Given the description of an element on the screen output the (x, y) to click on. 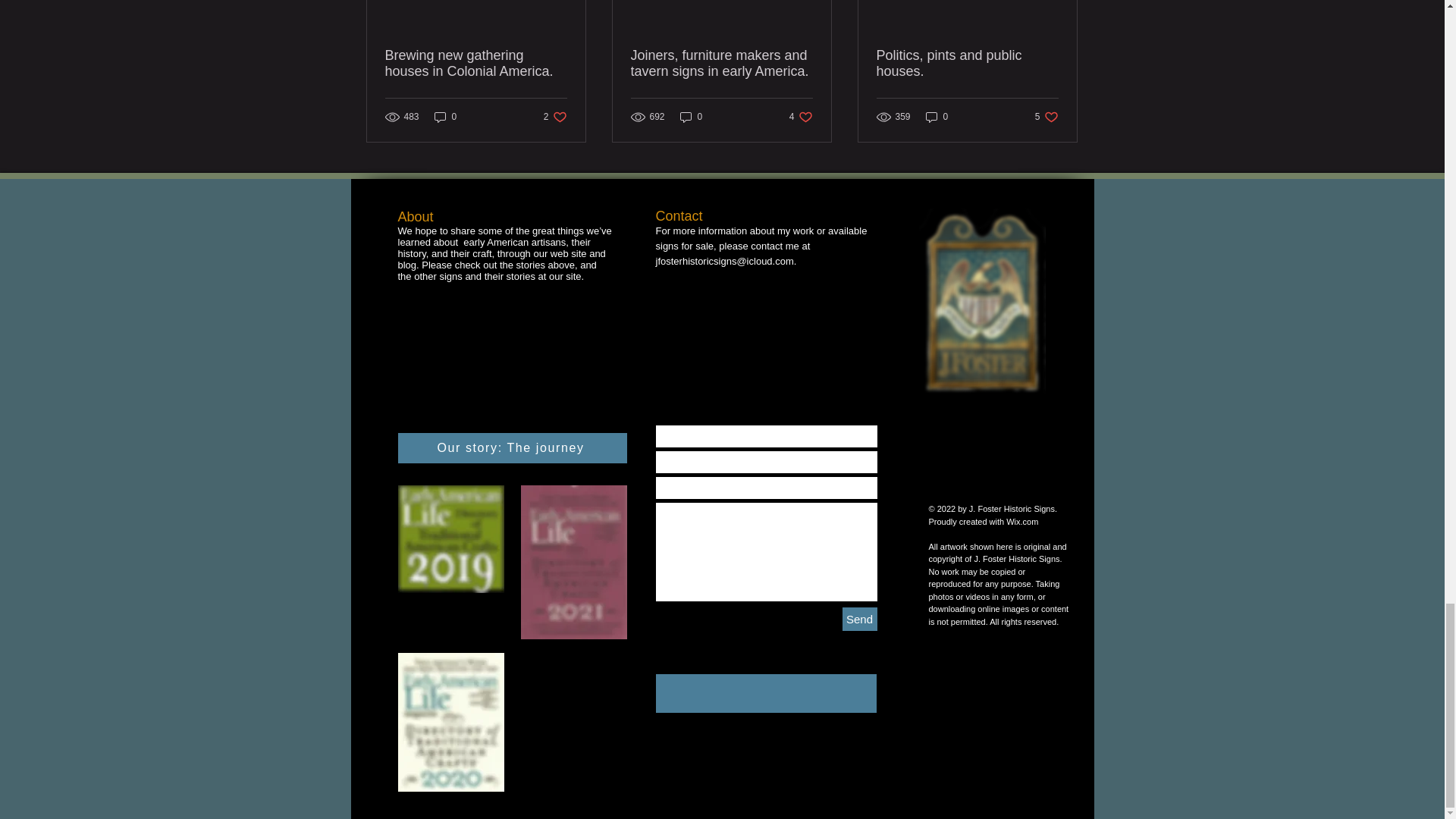
0 (937, 116)
Politics, pints and public houses. (555, 116)
Joiners, furniture makers and tavern signs in early America. (800, 116)
0 (967, 63)
Our story: The journey (721, 63)
Send (445, 116)
Brewing new gathering houses in Colonial America. (511, 448)
